Given the description of an element on the screen output the (x, y) to click on. 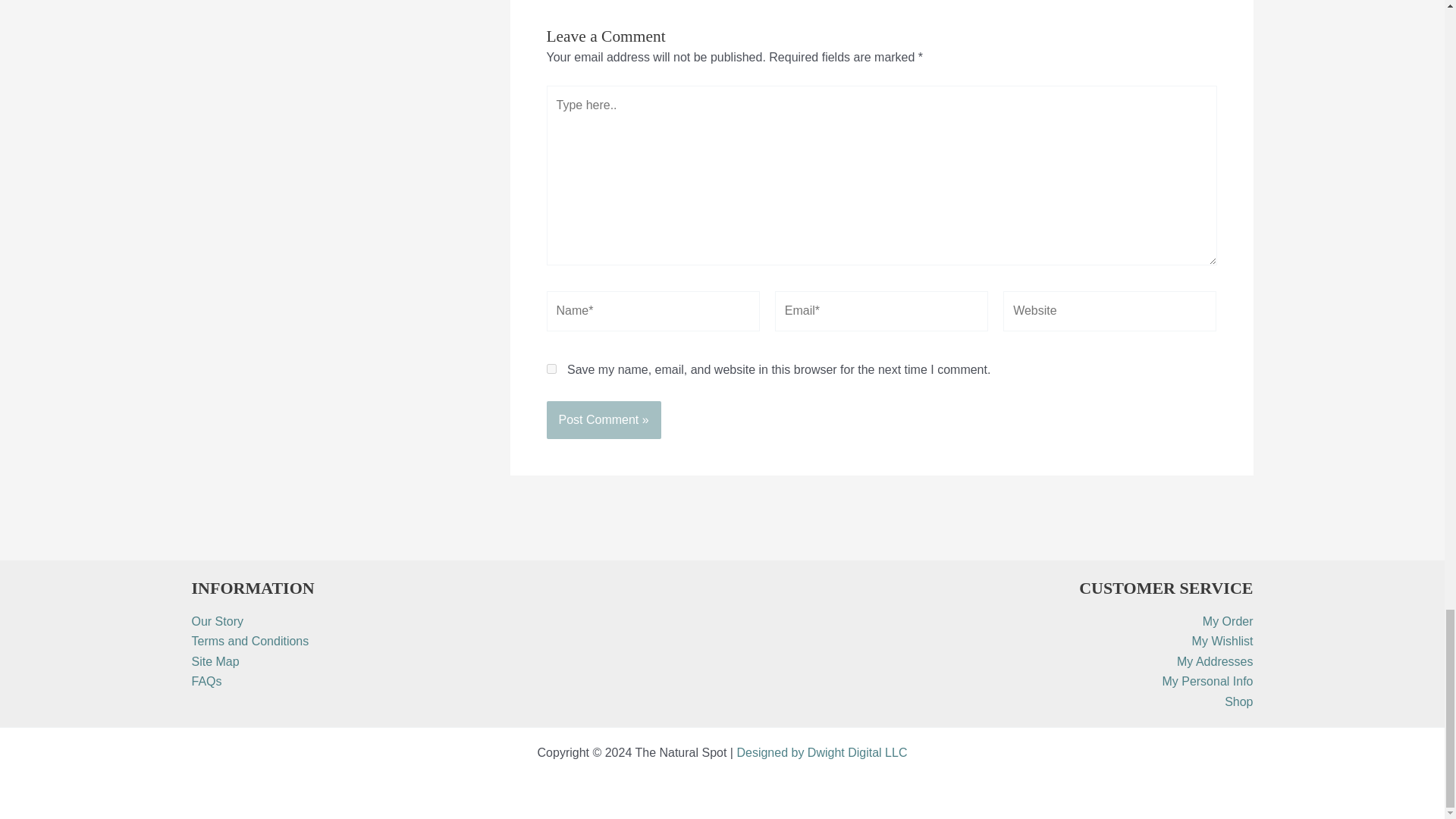
yes (551, 368)
My Addresses (1214, 661)
Our Story (216, 621)
My Wishlist (1222, 640)
My Order (1227, 621)
Terms and Conditions (249, 640)
FAQs (205, 680)
Site Map (214, 661)
